Given the description of an element on the screen output the (x, y) to click on. 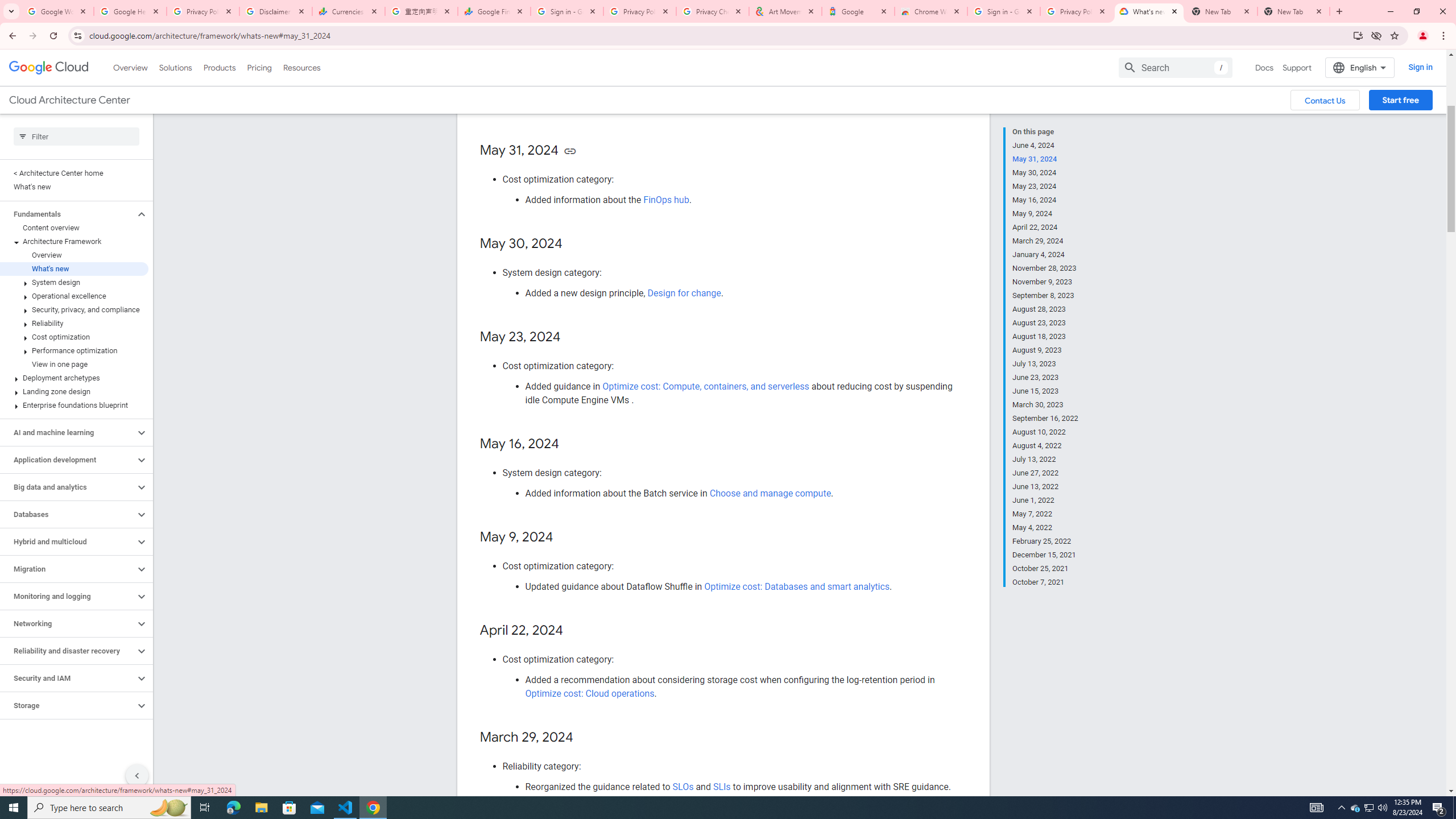
April 22, 2024 (1044, 227)
Deployment archetypes (74, 377)
May 23, 2024 (1044, 186)
Google Workspace Admin Community (57, 11)
Copy link to this section: May 16, 2024 (570, 444)
Cost optimization (74, 336)
May 9, 2024 (1044, 213)
Sign in - Google Accounts (566, 11)
Monitoring and logging (67, 596)
Currencies - Google Finance (348, 11)
August 4, 2022 (1044, 445)
